Given the description of an element on the screen output the (x, y) to click on. 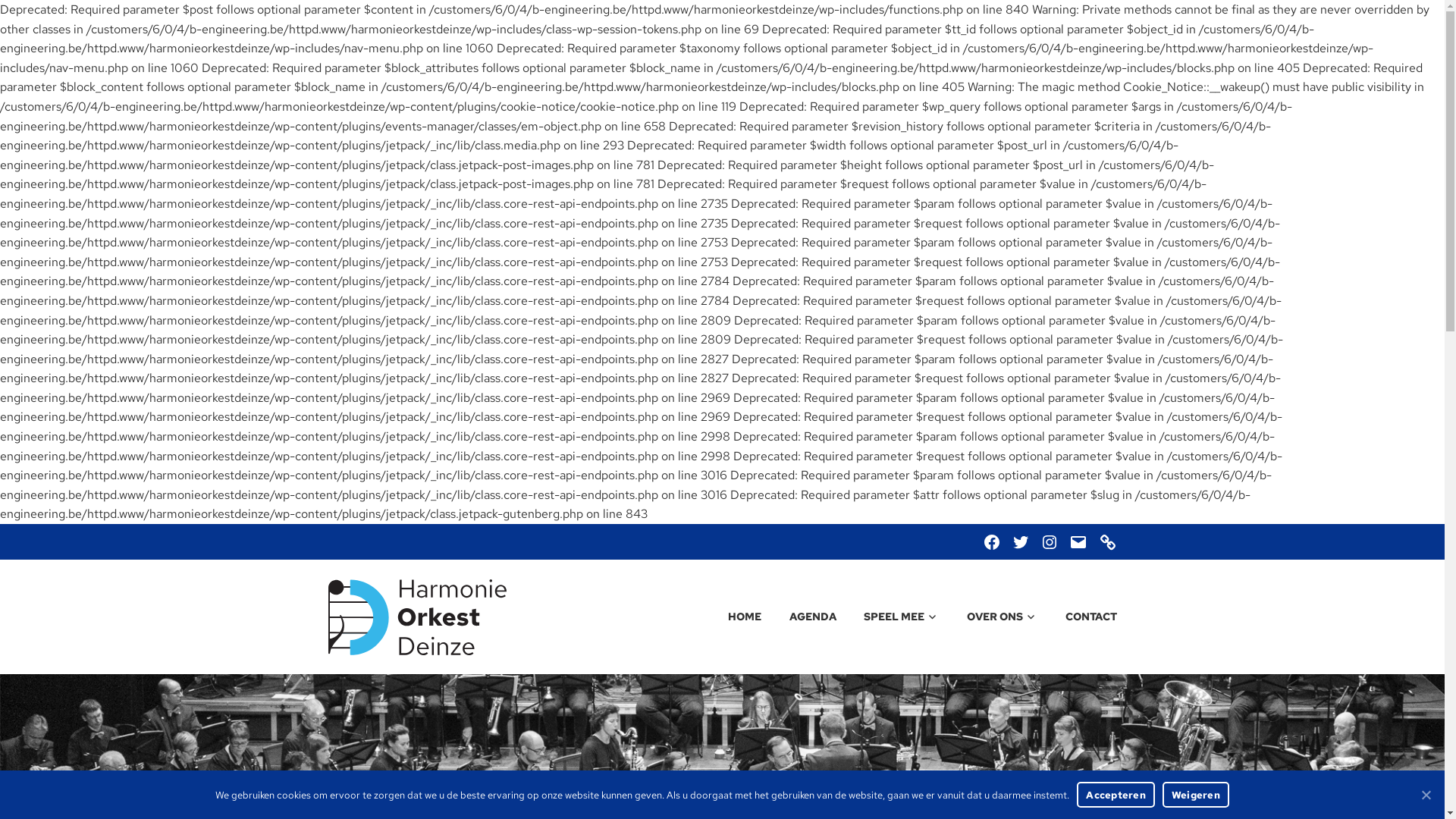
SPEEL MEE Element type: text (888, 616)
INSTAGRAM Element type: text (1049, 540)
Accepteren Element type: text (1115, 794)
CONTACT Element type: text (1078, 616)
HOME Element type: text (732, 616)
HARMONIEORKEST DEINZE Element type: text (738, 595)
TWITTER Element type: text (1020, 540)
FACEBOOK Element type: text (991, 540)
AGENDA Element type: text (799, 616)
E-MAIL Element type: text (1078, 540)
MAILCHIMP Element type: text (1107, 540)
OVER ONS Element type: text (989, 616)
Weigeren Element type: text (1195, 794)
